Given the description of an element on the screen output the (x, y) to click on. 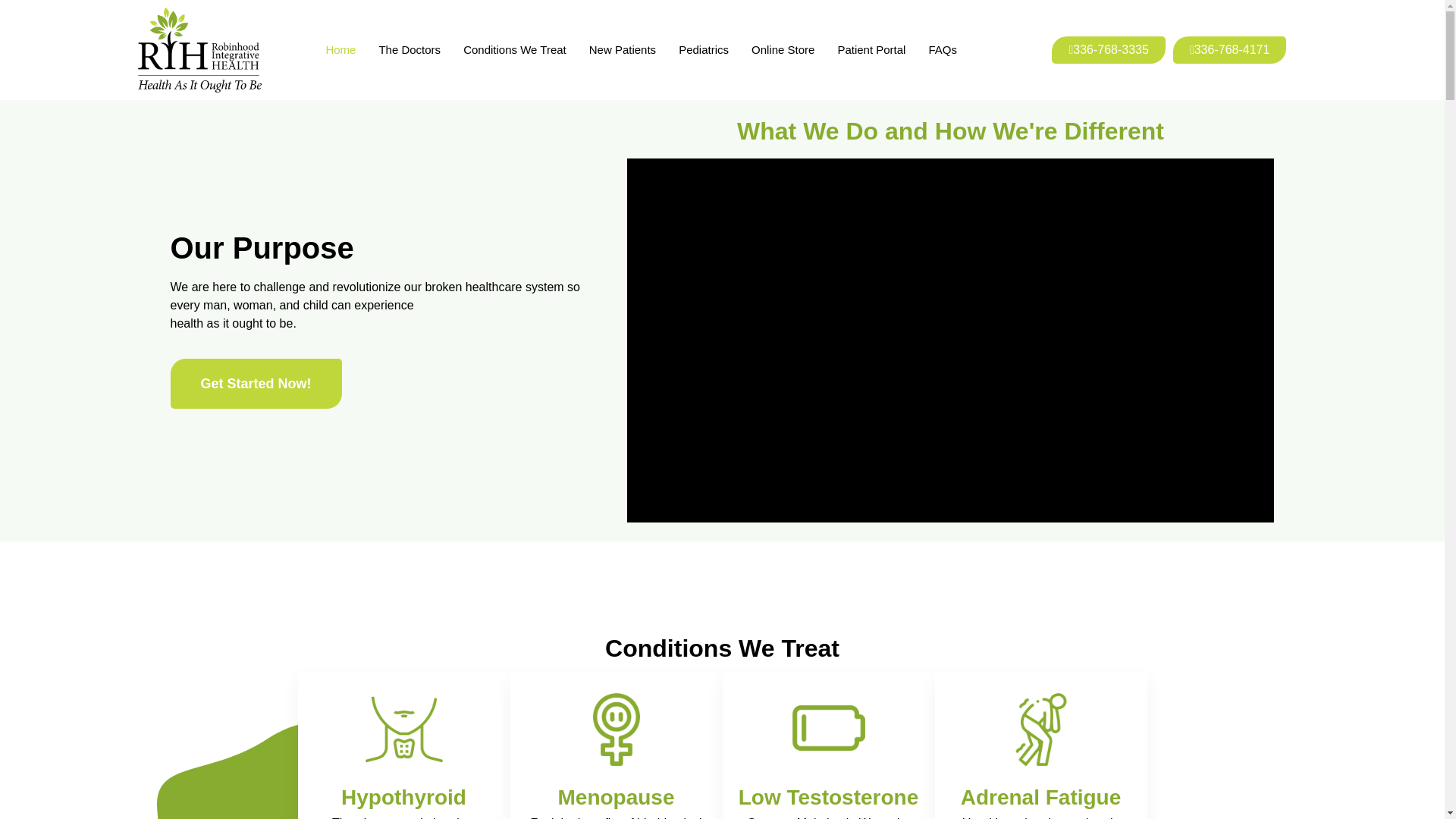
Online Store (782, 49)
Home (263, 771)
Home (339, 49)
The Doctors (409, 49)
New Patients (622, 49)
Conditions We Treat (514, 49)
Pediatrics (703, 49)
Patient Portal (871, 49)
FAQs (942, 49)
